Given the description of an element on the screen output the (x, y) to click on. 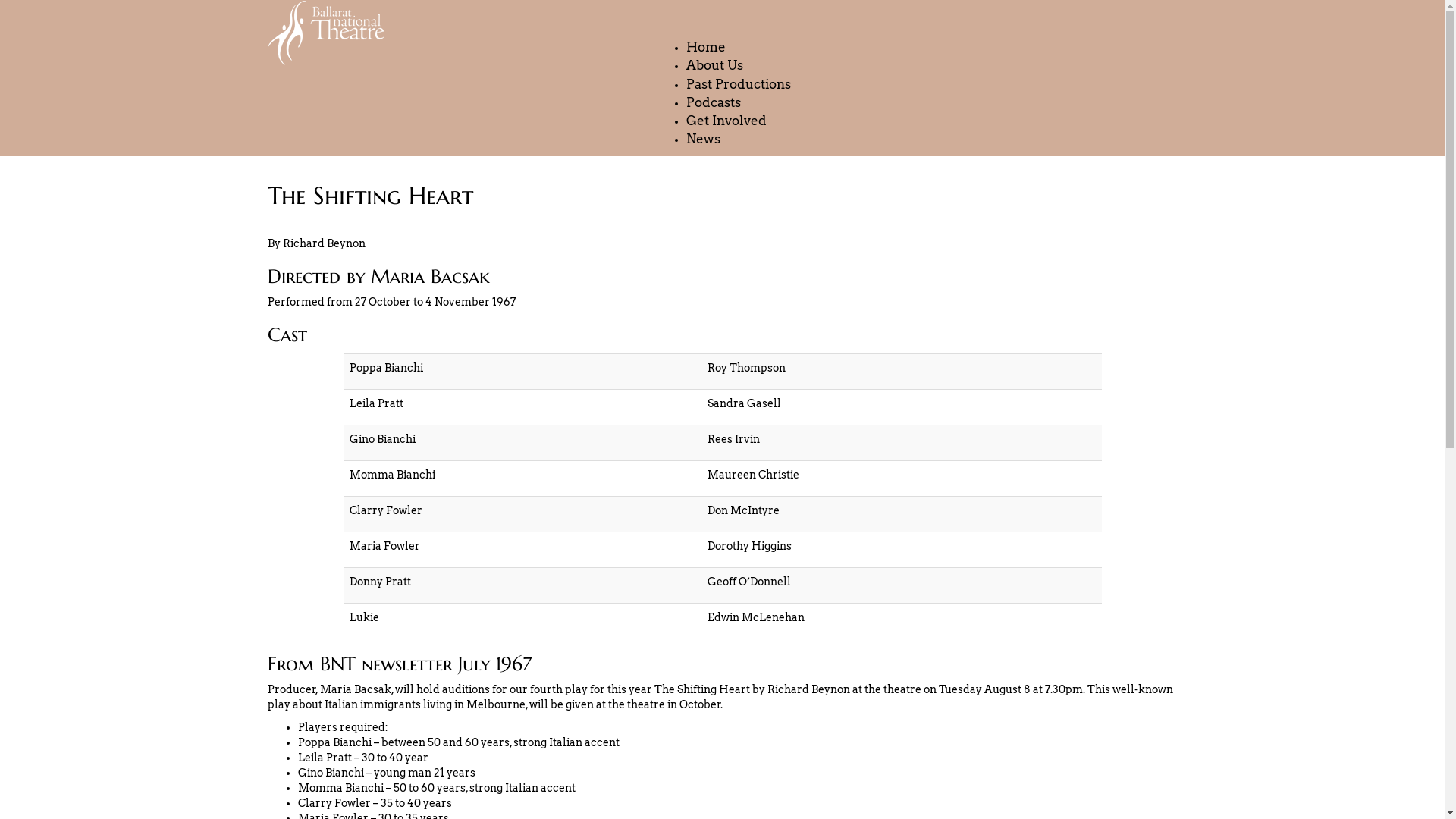
Past Productions Element type: text (738, 84)
News Element type: text (703, 139)
Podcasts Element type: text (713, 103)
Home Element type: text (705, 47)
